Given the description of an element on the screen output the (x, y) to click on. 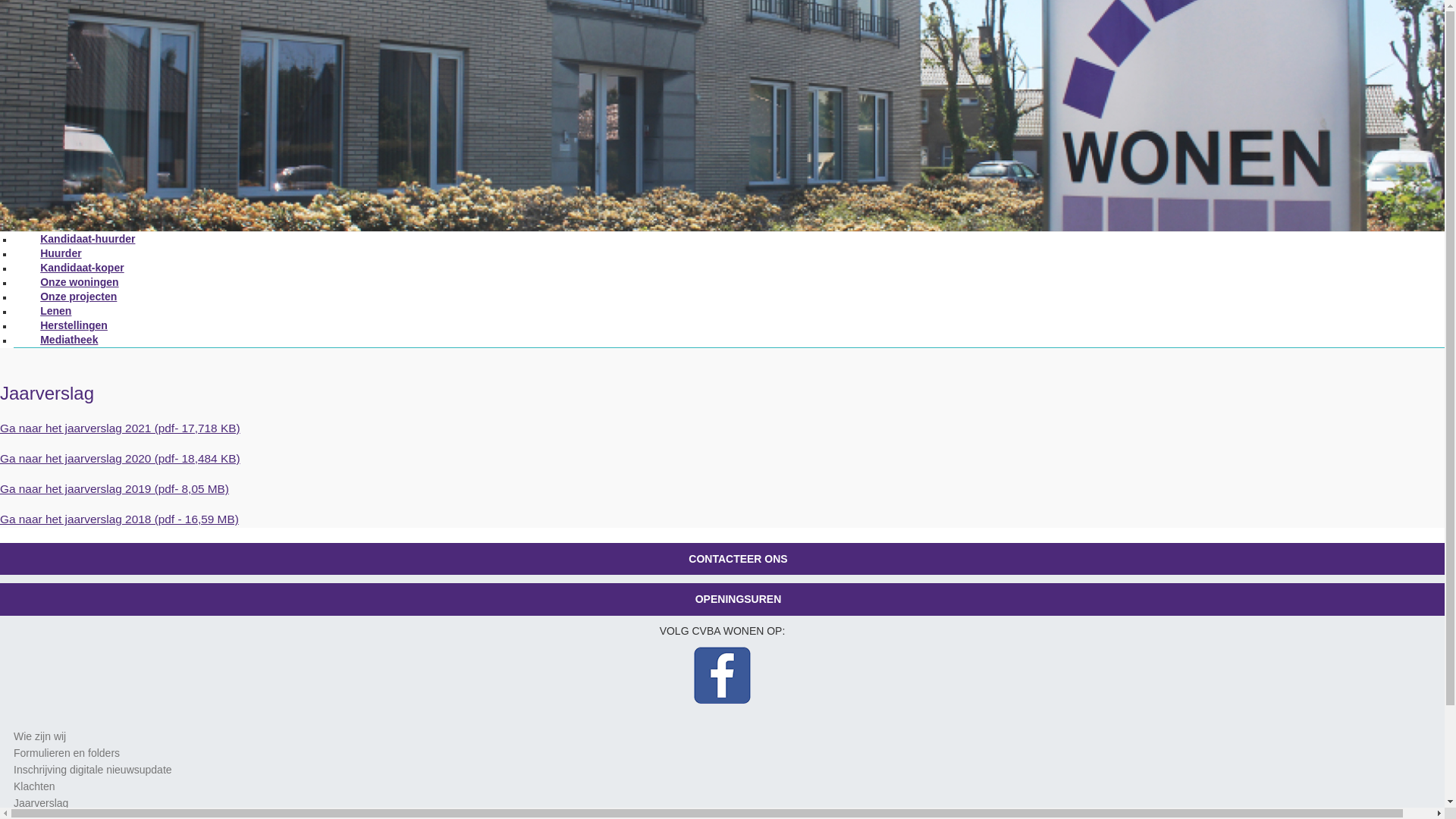
Onze projecten Element type: text (78, 297)
Ga naar het jaarverslag 2020 (pdf- 18,484 KB) Element type: text (120, 457)
Ga naar het jaarverslag 2019 (pdf- 8,05 MB) Element type: text (114, 488)
Ga naar het jaarverslag 2021 (pdf- 17,718 KB) Element type: text (120, 427)
Ga naar het jaarverslag 2018 (pdf - 16,59 MB) Element type: text (119, 518)
Huurder Element type: text (60, 254)
Formulieren en folders Element type: text (66, 752)
Wie zijn wij Element type: text (39, 735)
Kandidaat-huurder Element type: text (87, 239)
Klachten Element type: text (33, 785)
Lenen Element type: text (55, 311)
Kandidaat-koper Element type: text (81, 268)
Jaarverslag Element type: text (40, 802)
Inschrijving digitale nieuwsupdate Element type: text (92, 769)
Herstellingen Element type: text (73, 326)
Mediatheek Element type: text (69, 340)
Onze woningen Element type: text (79, 282)
